Given the description of an element on the screen output the (x, y) to click on. 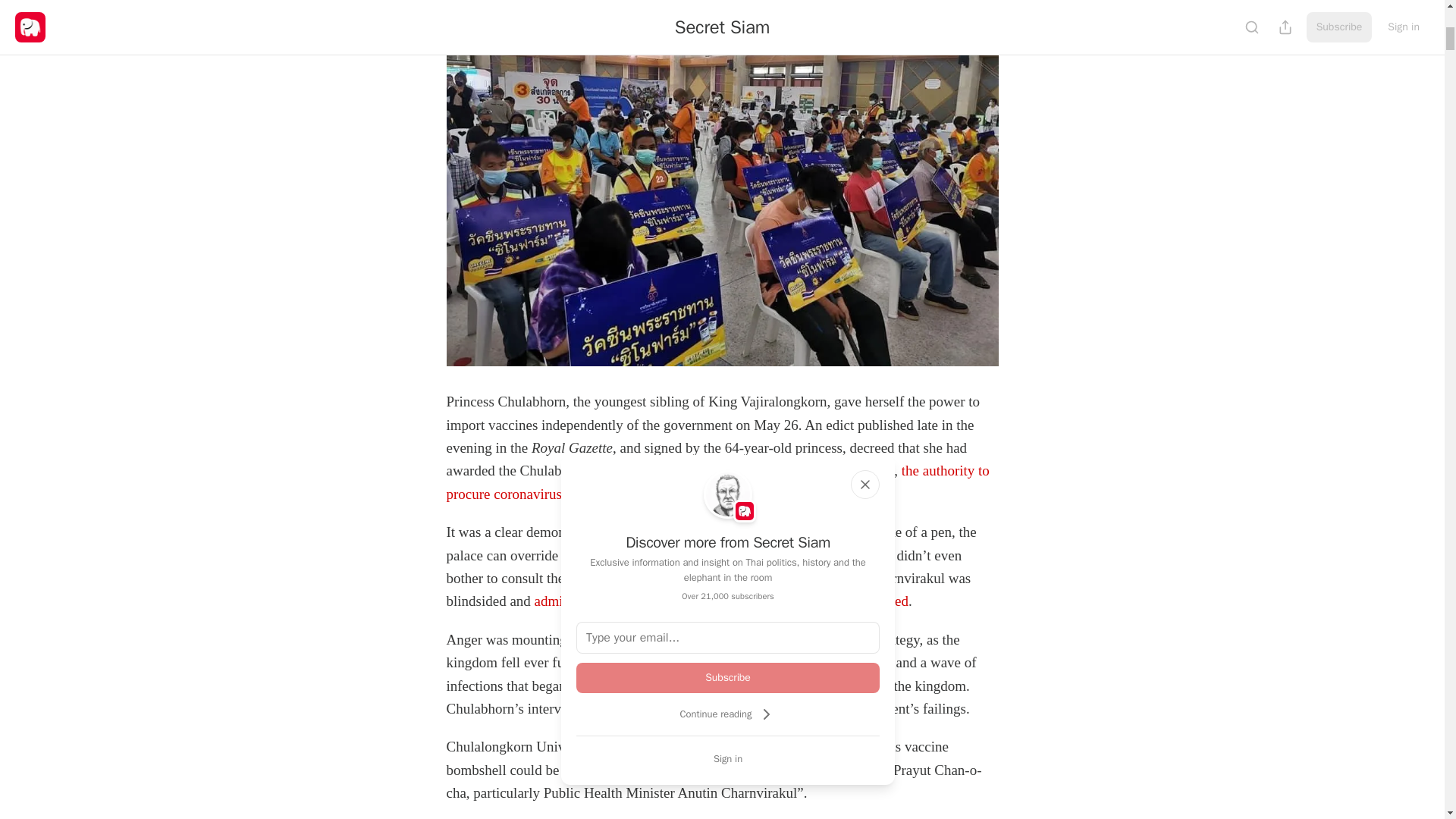
Sign in (727, 758)
Subscribe (727, 677)
